Given the description of an element on the screen output the (x, y) to click on. 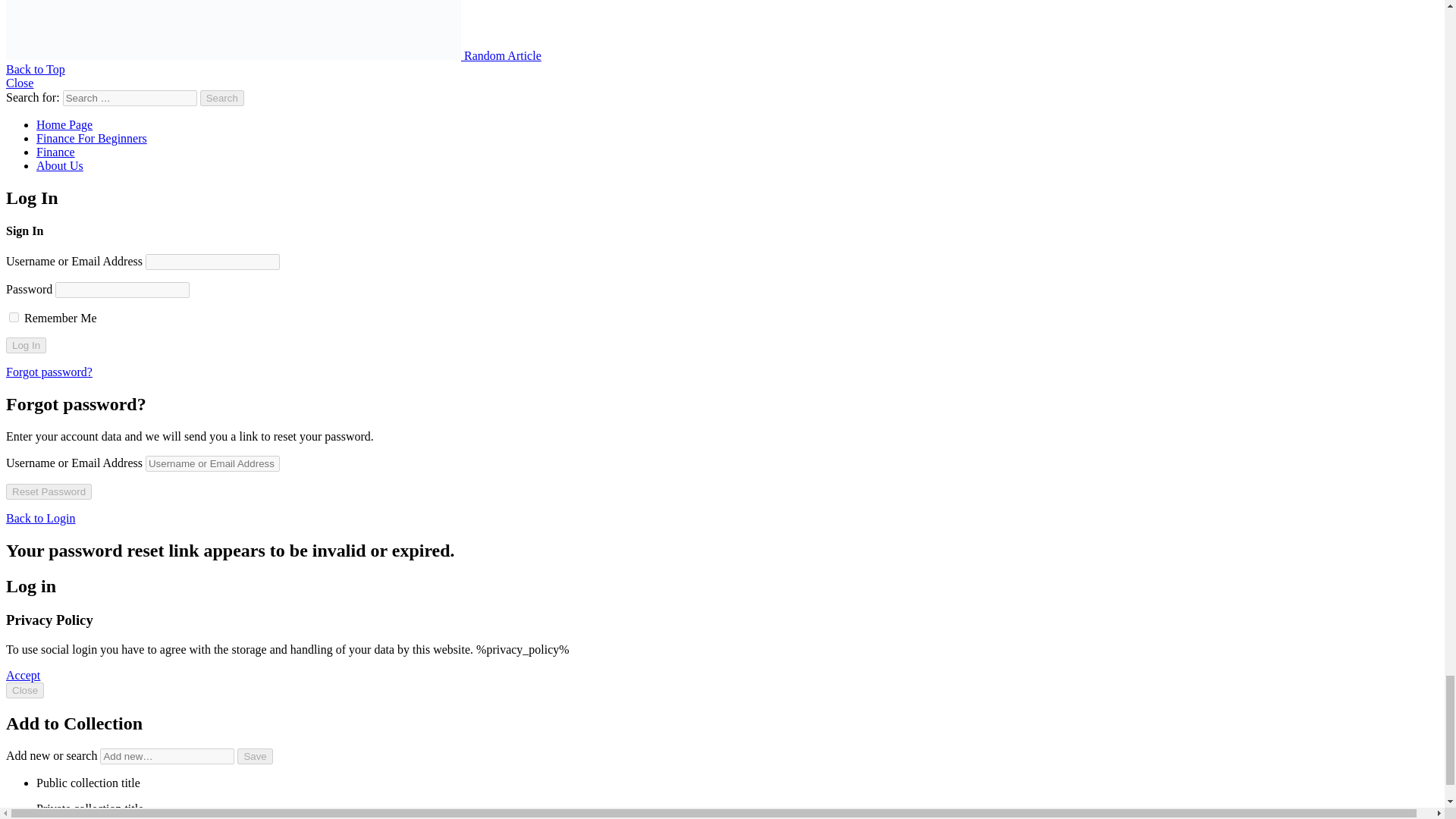
Reset Password (48, 491)
Save (254, 756)
forever (13, 317)
Log In (25, 344)
